Given the description of an element on the screen output the (x, y) to click on. 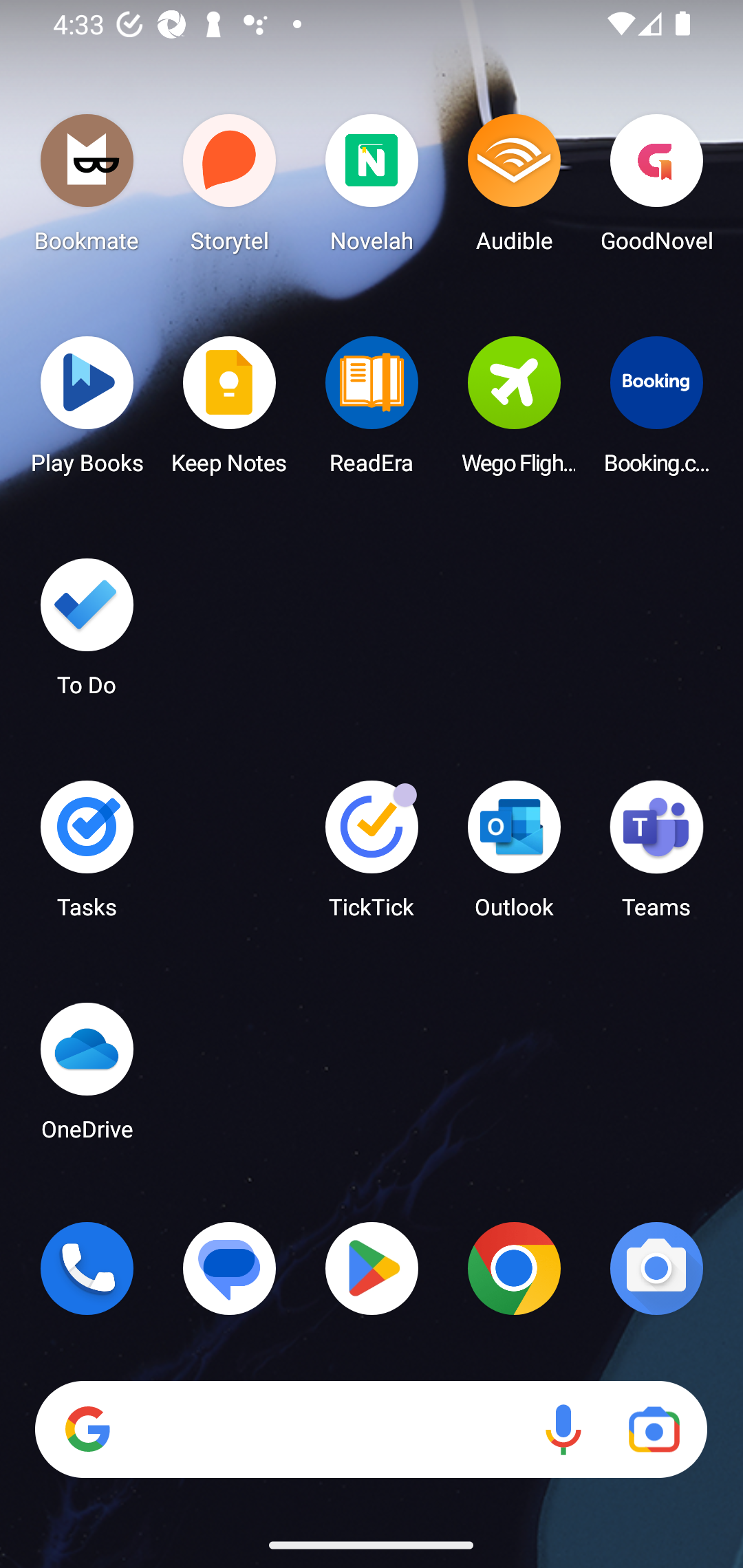
Bookmate (86, 188)
Storytel (229, 188)
Novelah (371, 188)
Audible (513, 188)
GoodNovel (656, 188)
Play Books (86, 410)
Keep Notes (229, 410)
ReadEra (371, 410)
Wego Flights & Hotels (513, 410)
Booking.com (656, 410)
To Do (86, 633)
Tasks (86, 854)
TickTick TickTick has 3 notifications (371, 854)
Outlook (513, 854)
Teams (656, 854)
OneDrive (86, 1076)
Phone (86, 1268)
Messages (229, 1268)
Play Store (371, 1268)
Chrome (513, 1268)
Camera (656, 1268)
Voice search (562, 1429)
Google Lens (653, 1429)
